Given the description of an element on the screen output the (x, y) to click on. 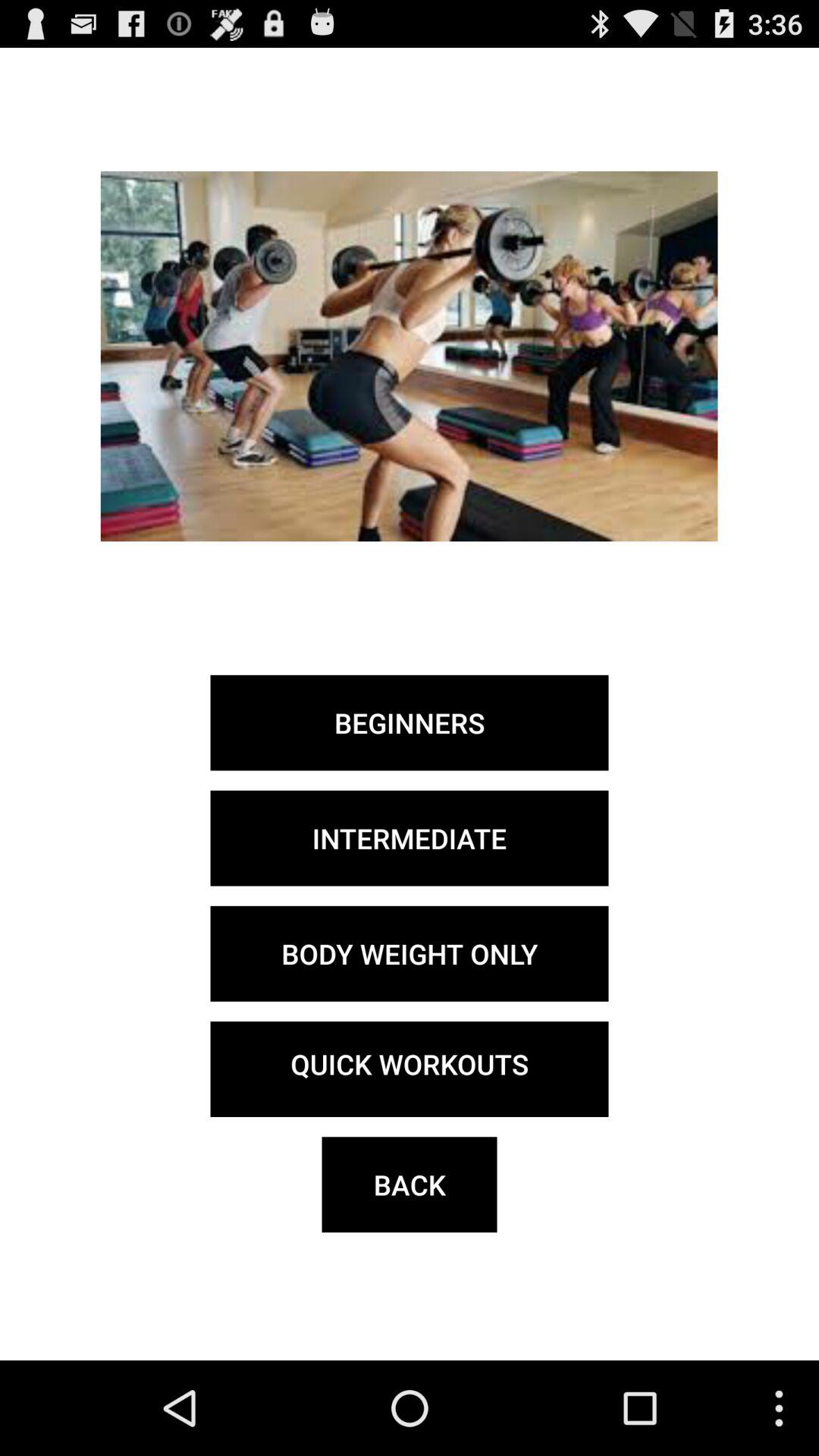
scroll until the intermediate item (409, 838)
